Given the description of an element on the screen output the (x, y) to click on. 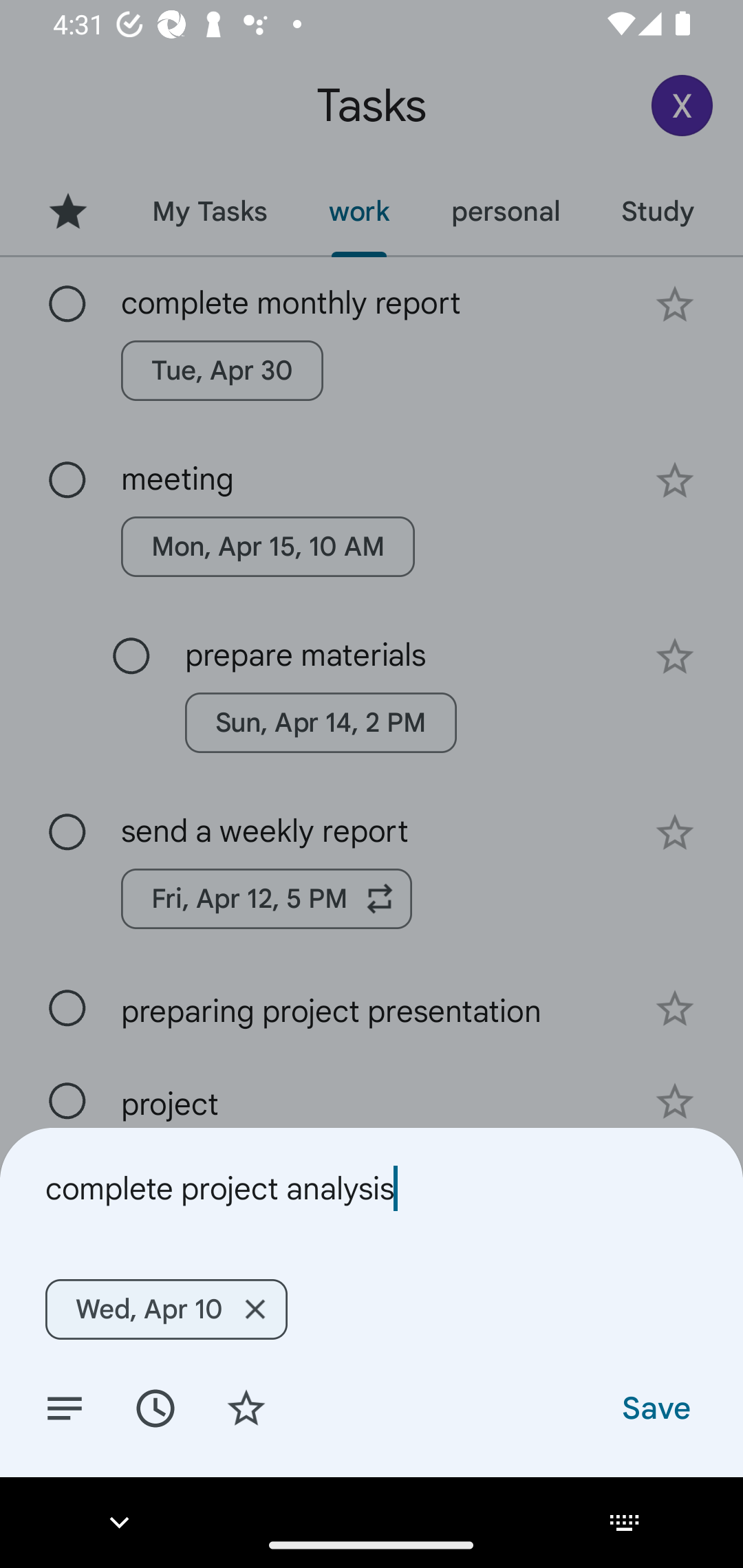
complete project analysis (371, 1188)
Wed, Apr 10 Remove Wed, Apr 10 (166, 1308)
Save (655, 1407)
Add details (64, 1407)
Set date/time (154, 1407)
Add star (245, 1407)
